Given the description of an element on the screen output the (x, y) to click on. 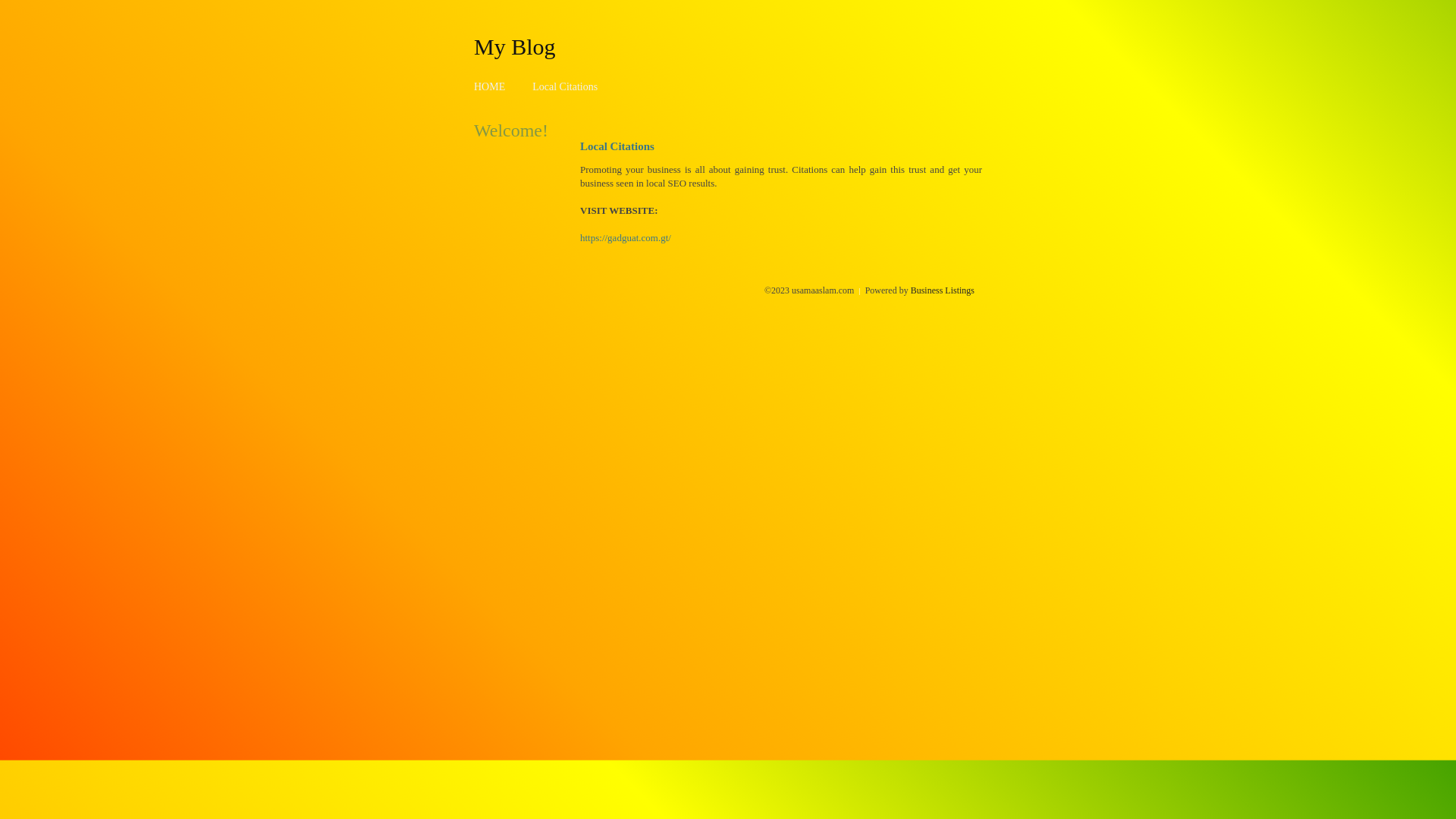
HOME Element type: text (489, 86)
https://gadguat.com.gt/ Element type: text (625, 237)
Local Citations Element type: text (564, 86)
My Blog Element type: text (514, 46)
Business Listings Element type: text (942, 290)
